Given the description of an element on the screen output the (x, y) to click on. 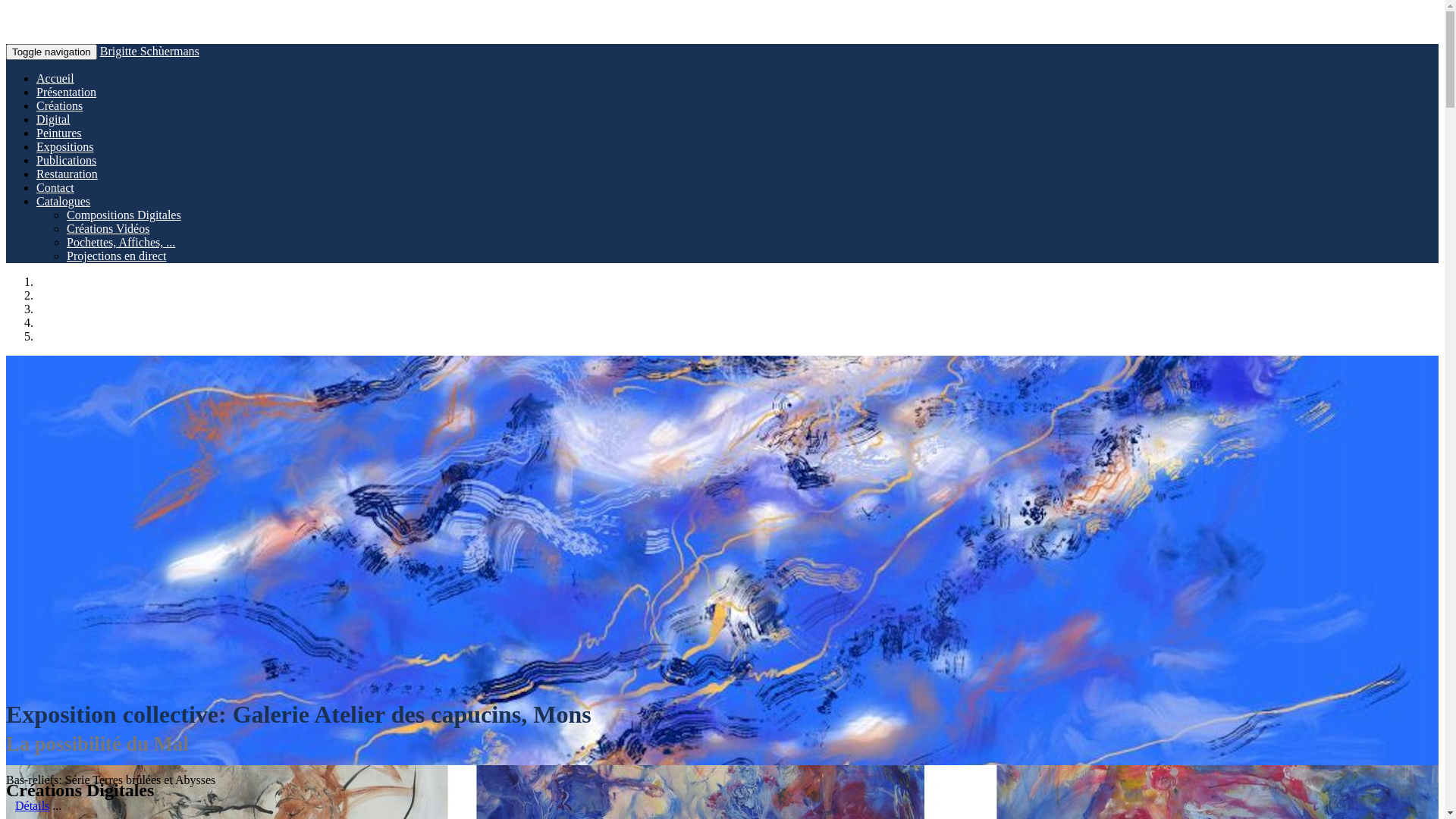
Publications Element type: text (66, 159)
Catalogues Element type: text (63, 200)
Projections en direct Element type: text (116, 255)
Toggle navigation Element type: text (51, 51)
Digital Element type: text (52, 118)
Contact Element type: text (55, 187)
Pochettes, Affiches, ... Element type: text (120, 241)
Expositions Element type: text (65, 146)
Restauration Element type: text (66, 173)
Accueil Element type: text (55, 78)
Peintures Element type: text (58, 132)
Compositions Digitales Element type: text (123, 214)
